Given the description of an element on the screen output the (x, y) to click on. 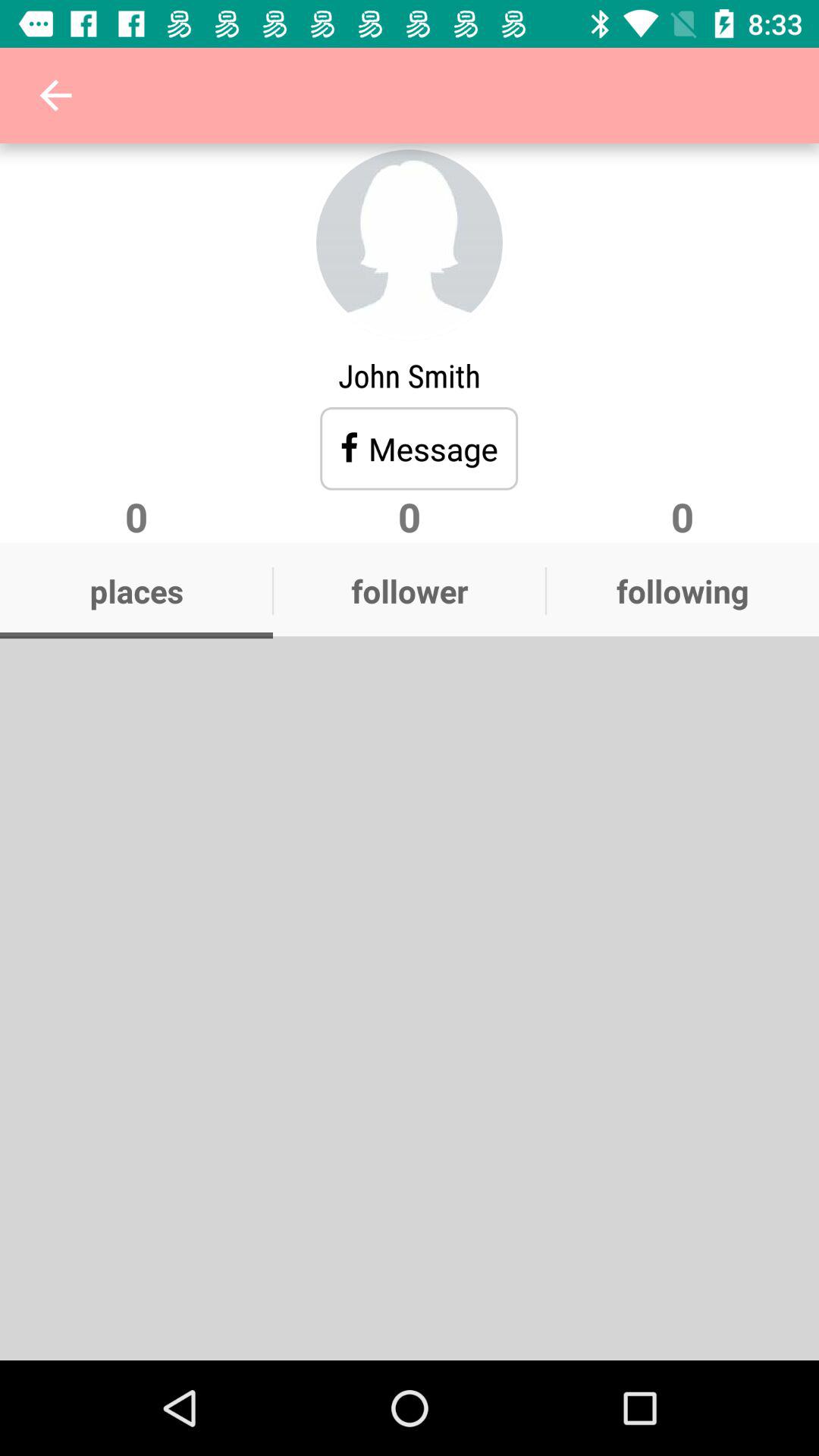
press following app (682, 590)
